Given the description of an element on the screen output the (x, y) to click on. 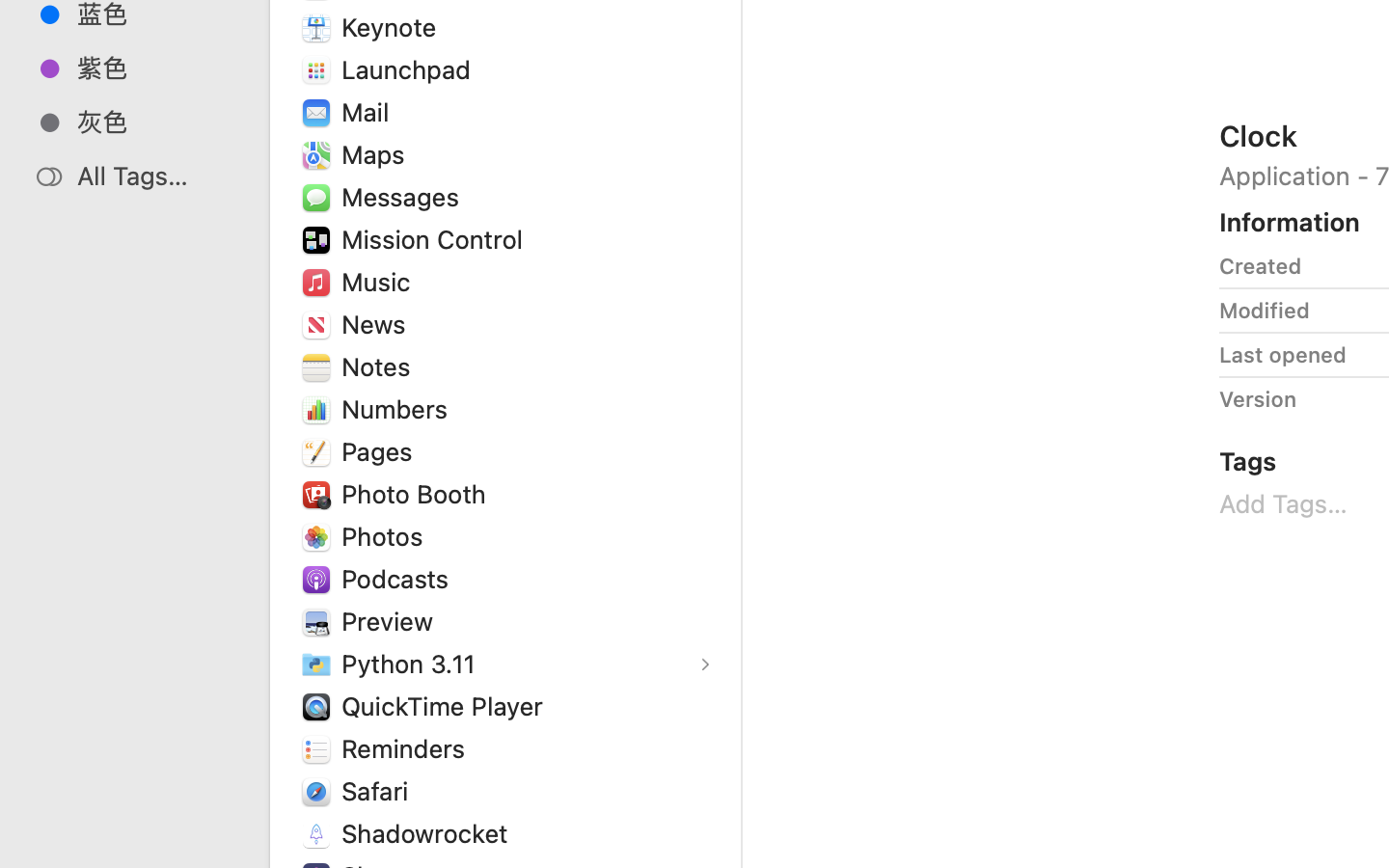
All Tags… Element type: AXStaticText (155, 175)
Numbers Element type: AXTextField (399, 408)
Mail Element type: AXTextField (369, 111)
QuickTime Player Element type: AXTextField (446, 705)
Tags Element type: AXStaticText (1247, 460)
